Given the description of an element on the screen output the (x, y) to click on. 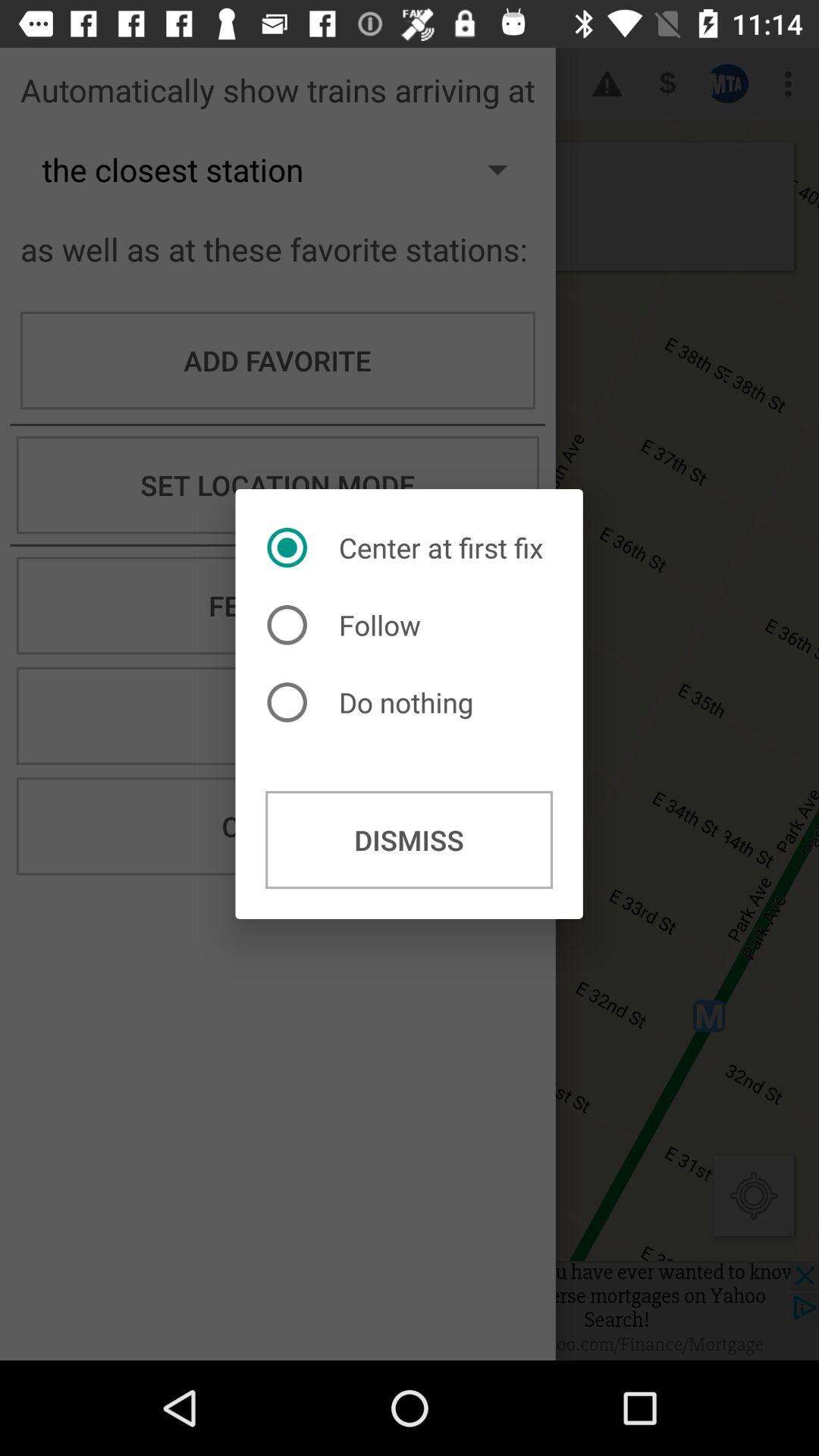
jump to do nothing radio button (374, 702)
